Given the description of an element on the screen output the (x, y) to click on. 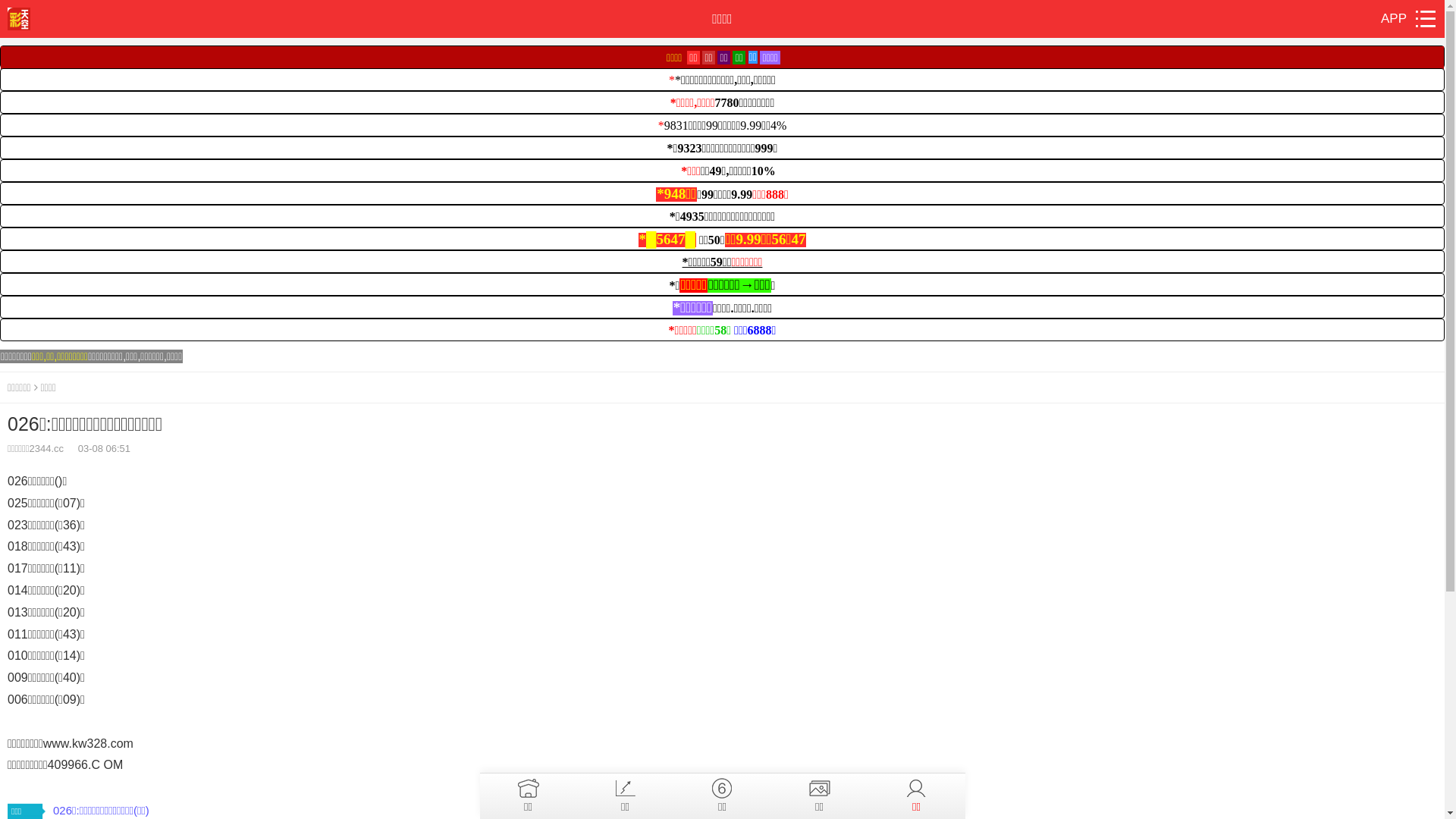
APP Element type: text (1393, 18)
